Given the description of an element on the screen output the (x, y) to click on. 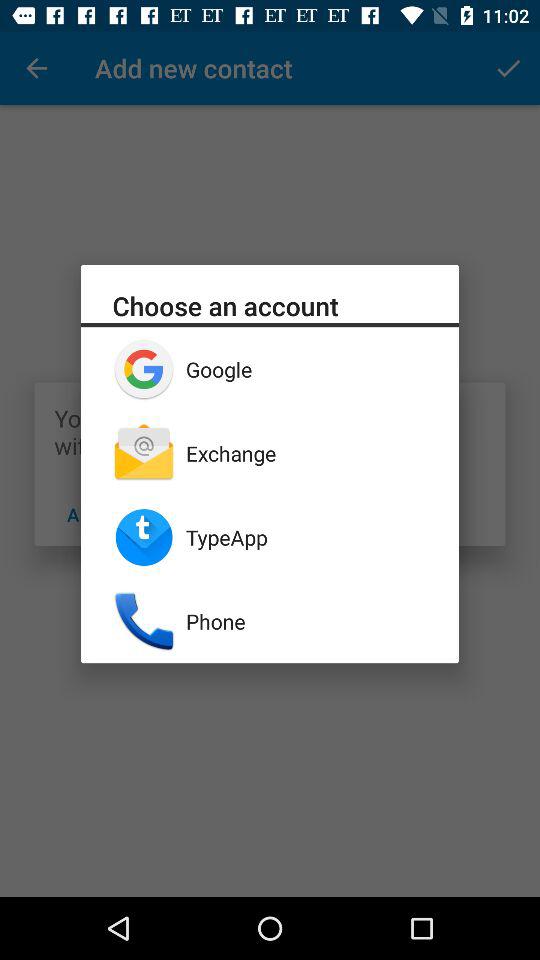
select the exchange icon (306, 453)
